Given the description of an element on the screen output the (x, y) to click on. 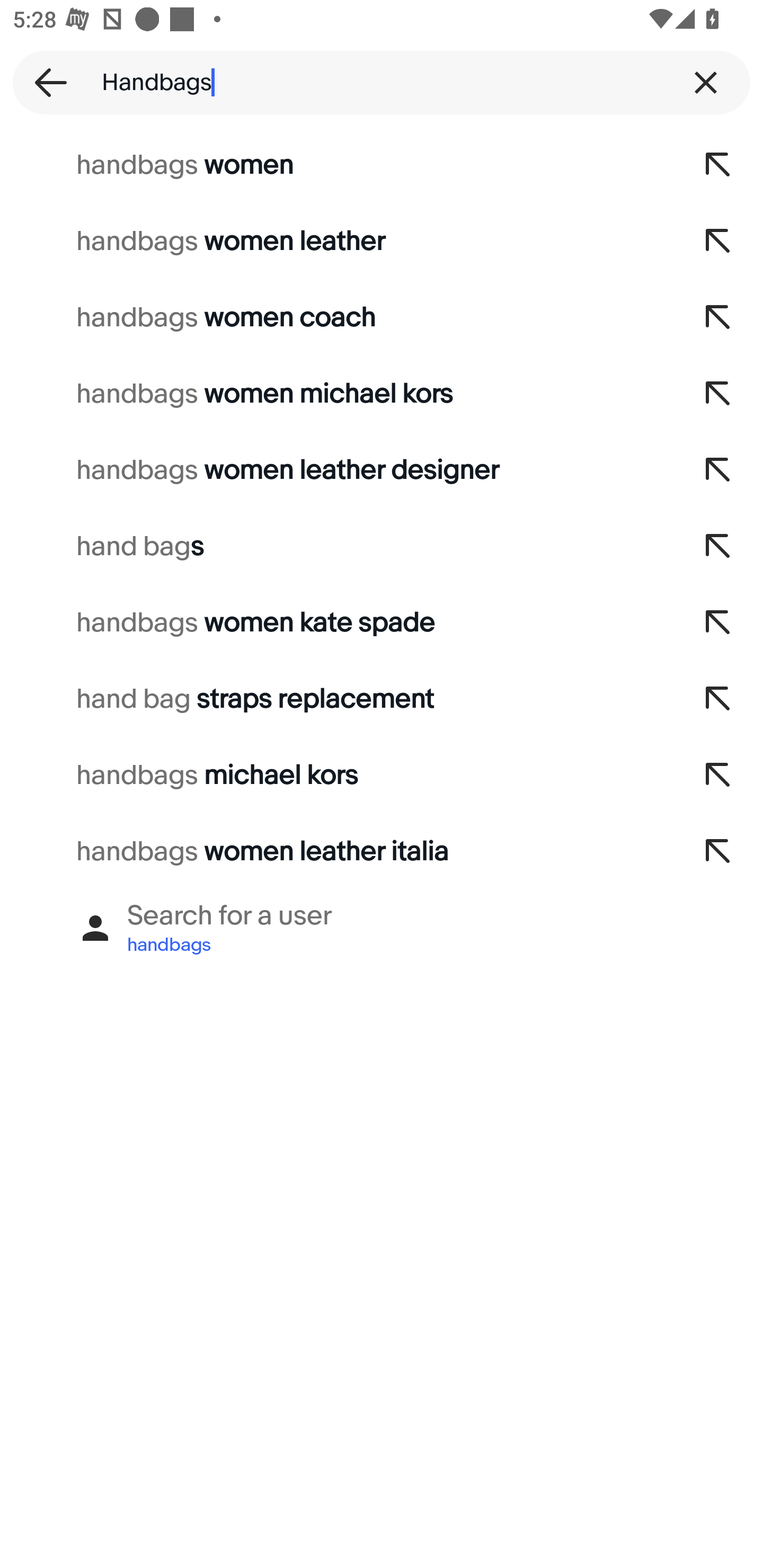
Back (44, 82)
Clear query (705, 82)
Handbags (381, 82)
handbags women (336, 165)
Add to search query,handbags women (718, 165)
handbags women leather (336, 241)
Add to search query,handbags women leather (718, 241)
handbags women coach (336, 317)
Add to search query,handbags women coach (718, 317)
handbags women michael kors (336, 393)
Add to search query,handbags women michael kors (718, 393)
handbags women leather designer (336, 470)
hand bags (336, 546)
Add to search query,hand bags (718, 546)
handbags women kate spade (336, 622)
Add to search query,handbags women kate spade (718, 622)
hand bag straps replacement (336, 698)
Add to search query,hand bag straps replacement (718, 698)
handbags michael kors (336, 774)
Add to search query,handbags michael kors (718, 774)
handbags women leather italia (336, 851)
Add to search query,handbags women leather italia (718, 851)
Search for a user
handbags (381, 927)
